Given the description of an element on the screen output the (x, y) to click on. 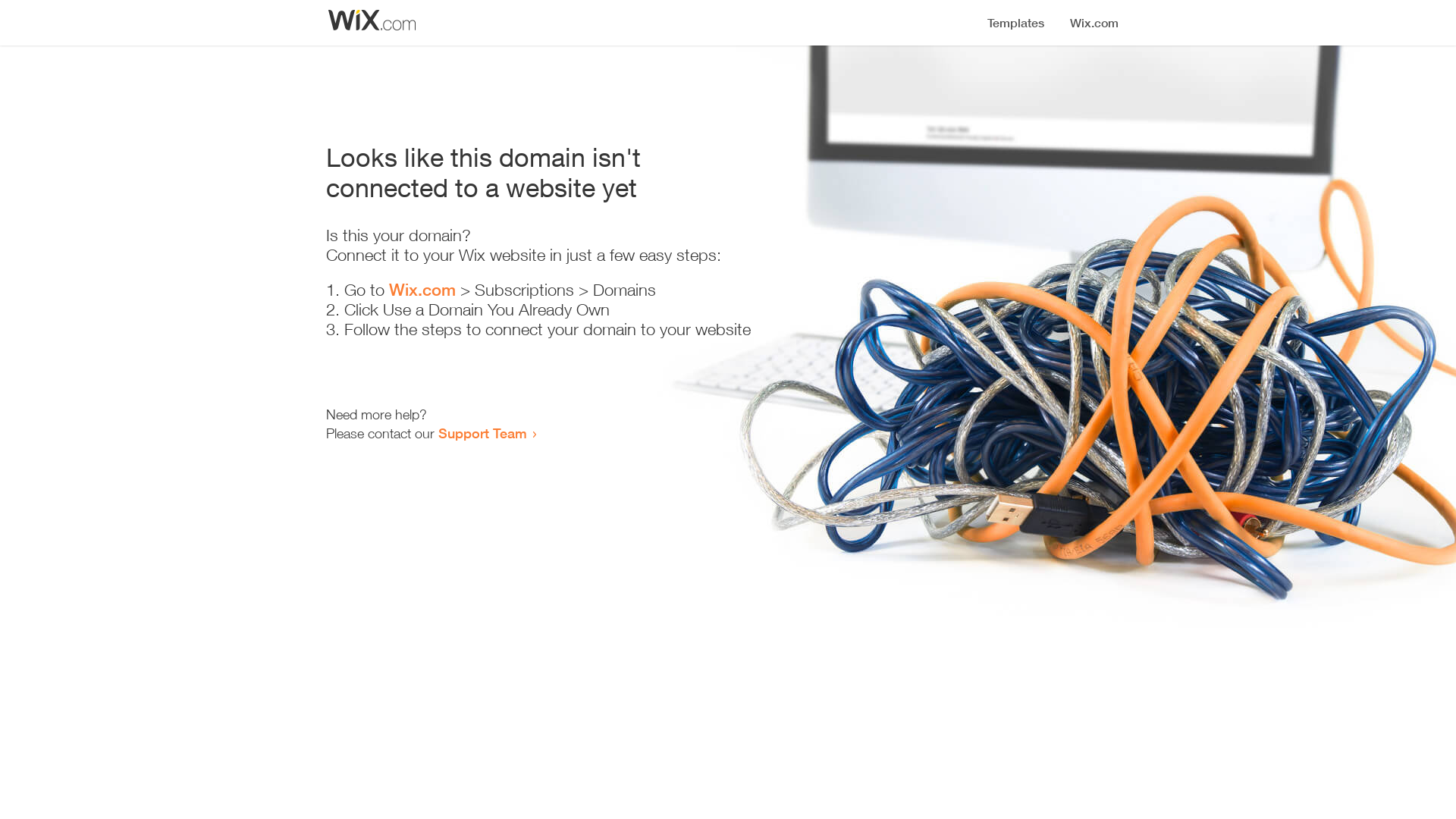
Support Team Element type: text (482, 432)
Wix.com Element type: text (422, 289)
